Given the description of an element on the screen output the (x, y) to click on. 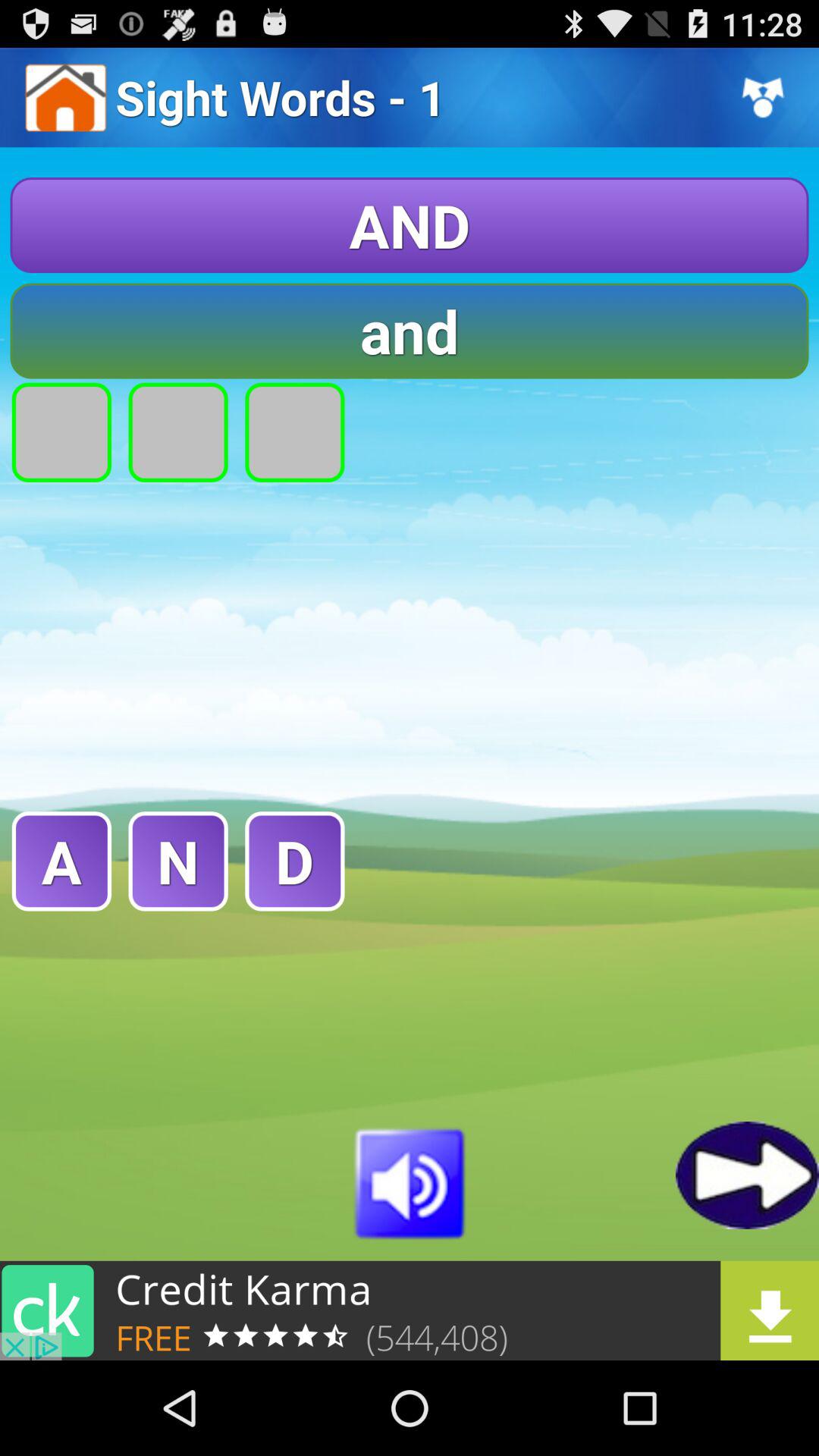
go to previous (747, 1175)
